Given the description of an element on the screen output the (x, y) to click on. 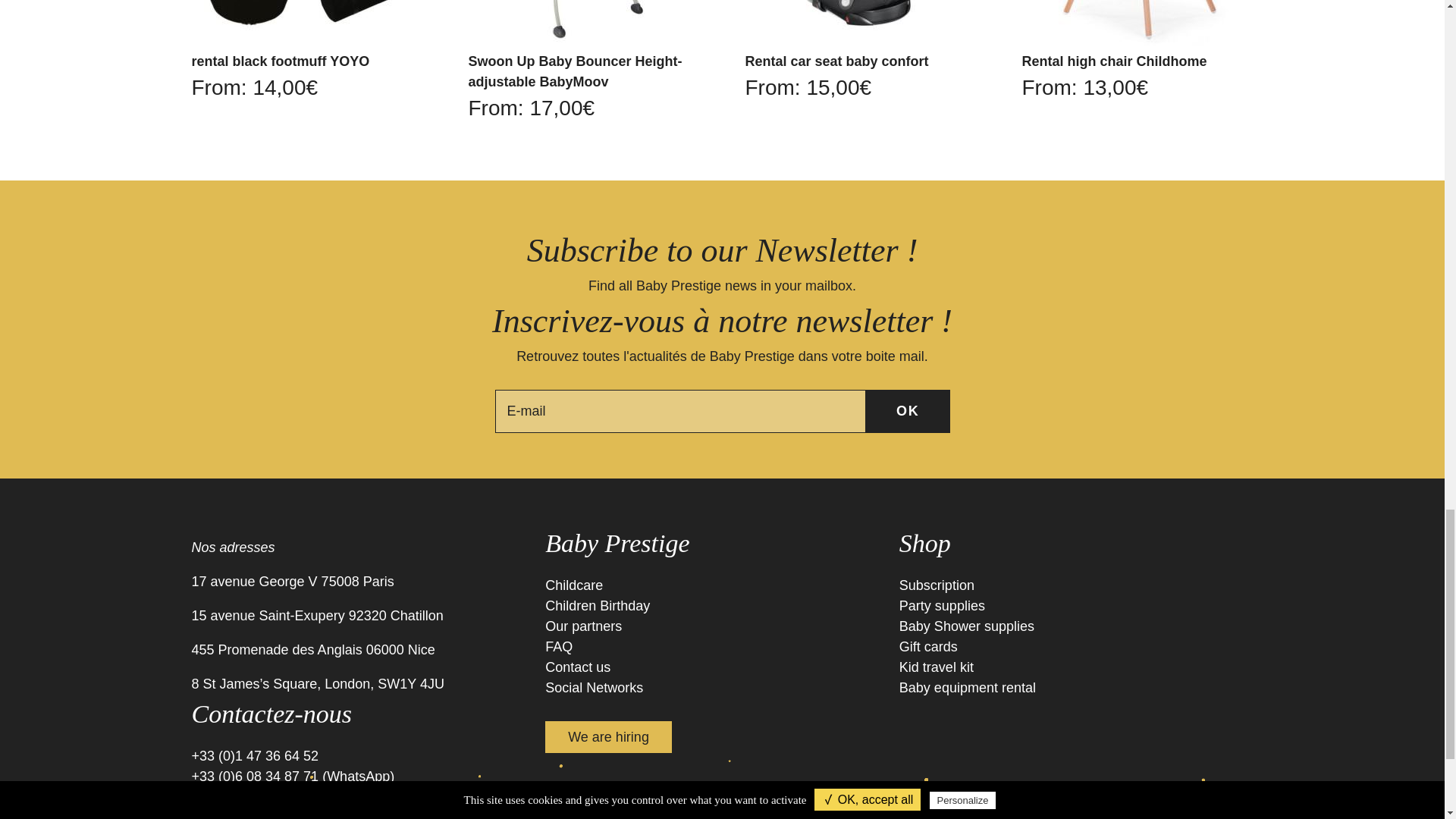
OK (908, 411)
